Given the description of an element on the screen output the (x, y) to click on. 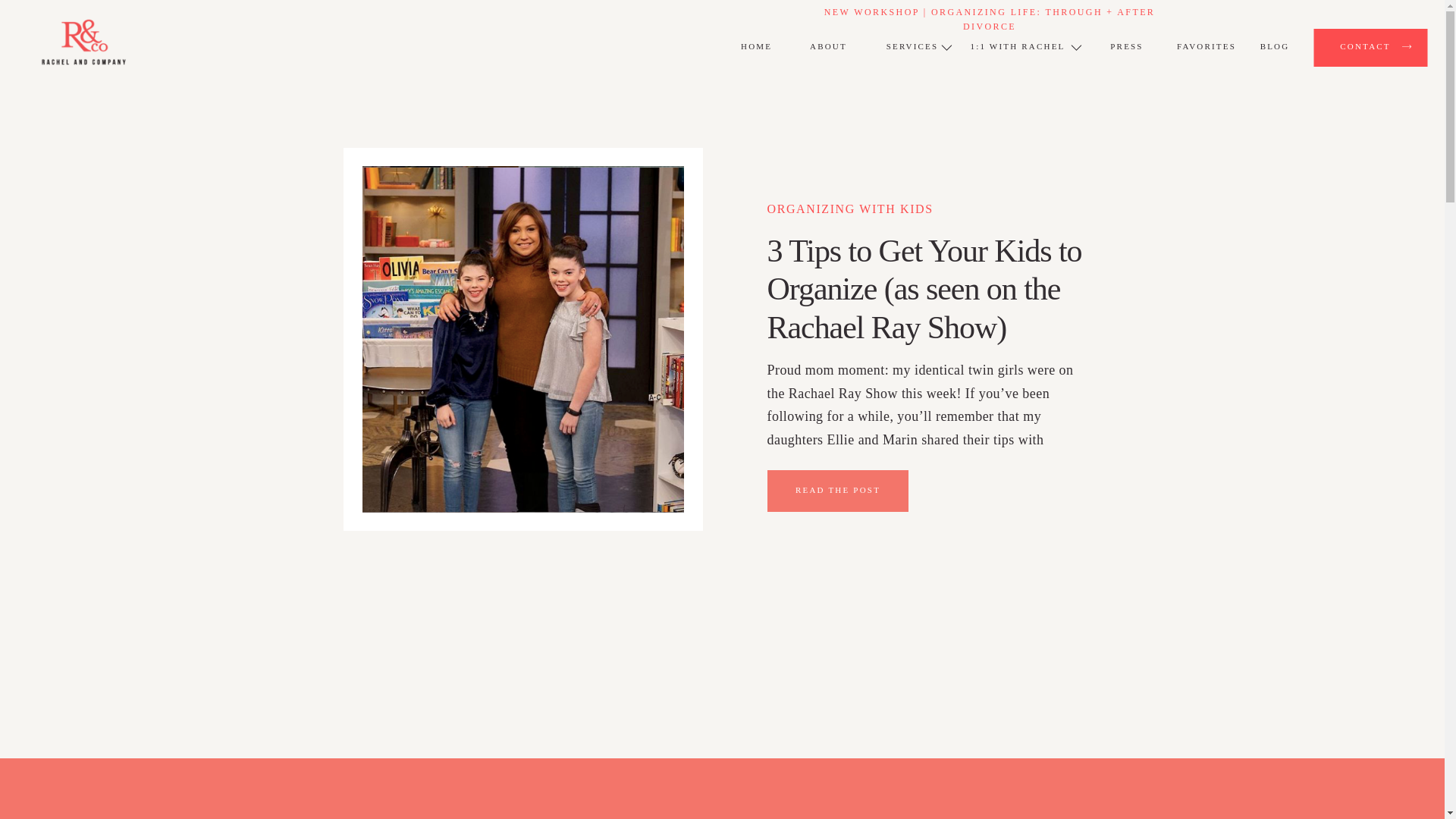
1:1 WITH RACHEL (1017, 48)
BLOG (1274, 48)
SERVICES (911, 48)
PRESS (1126, 48)
ABOUT (827, 48)
FAVORITES (1206, 48)
CONTACT (1365, 47)
HOME (756, 48)
